Given the description of an element on the screen output the (x, y) to click on. 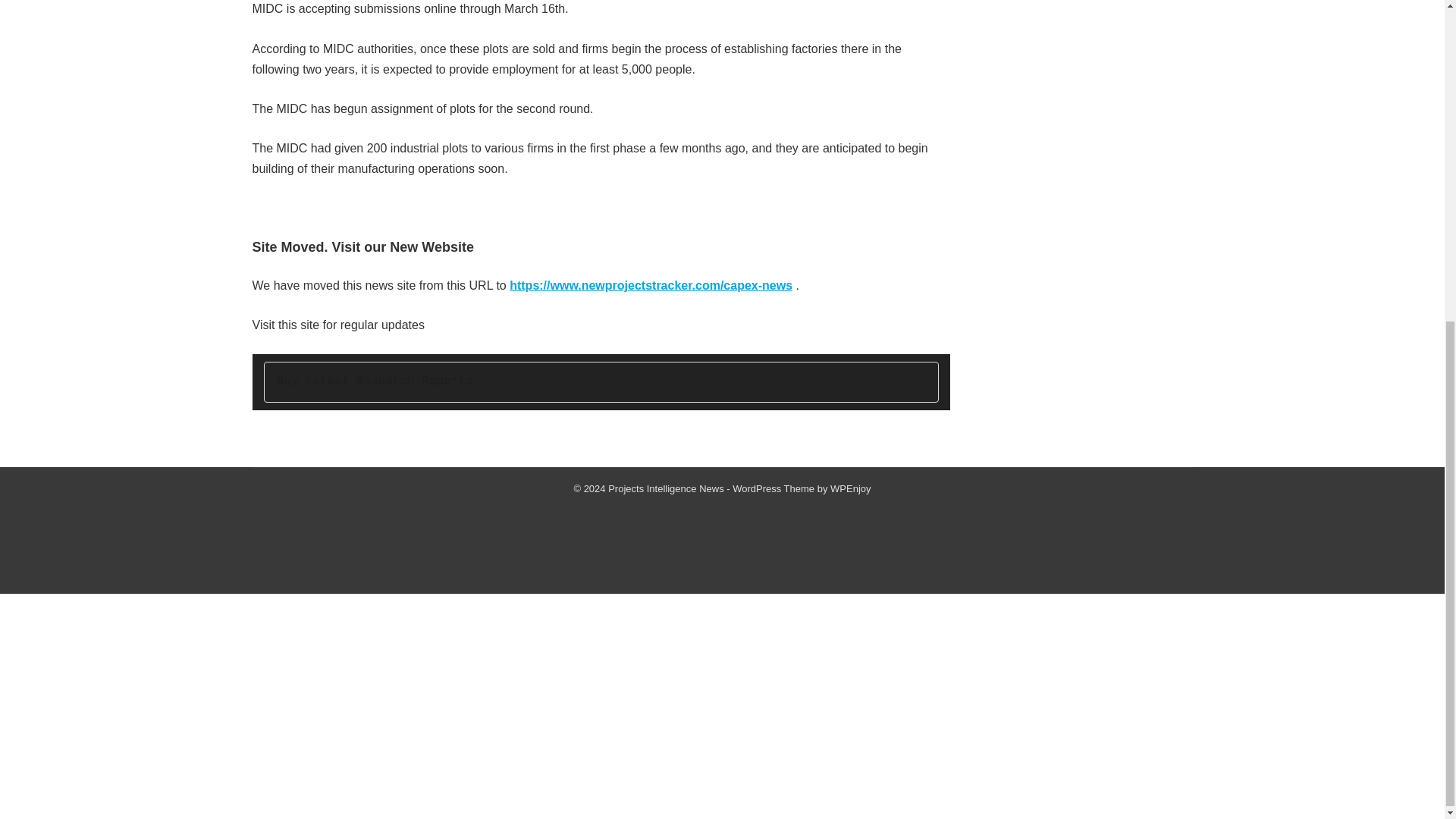
WordPress Theme (772, 488)
Advertisement (721, 540)
WPEnjoy (849, 488)
